Given the description of an element on the screen output the (x, y) to click on. 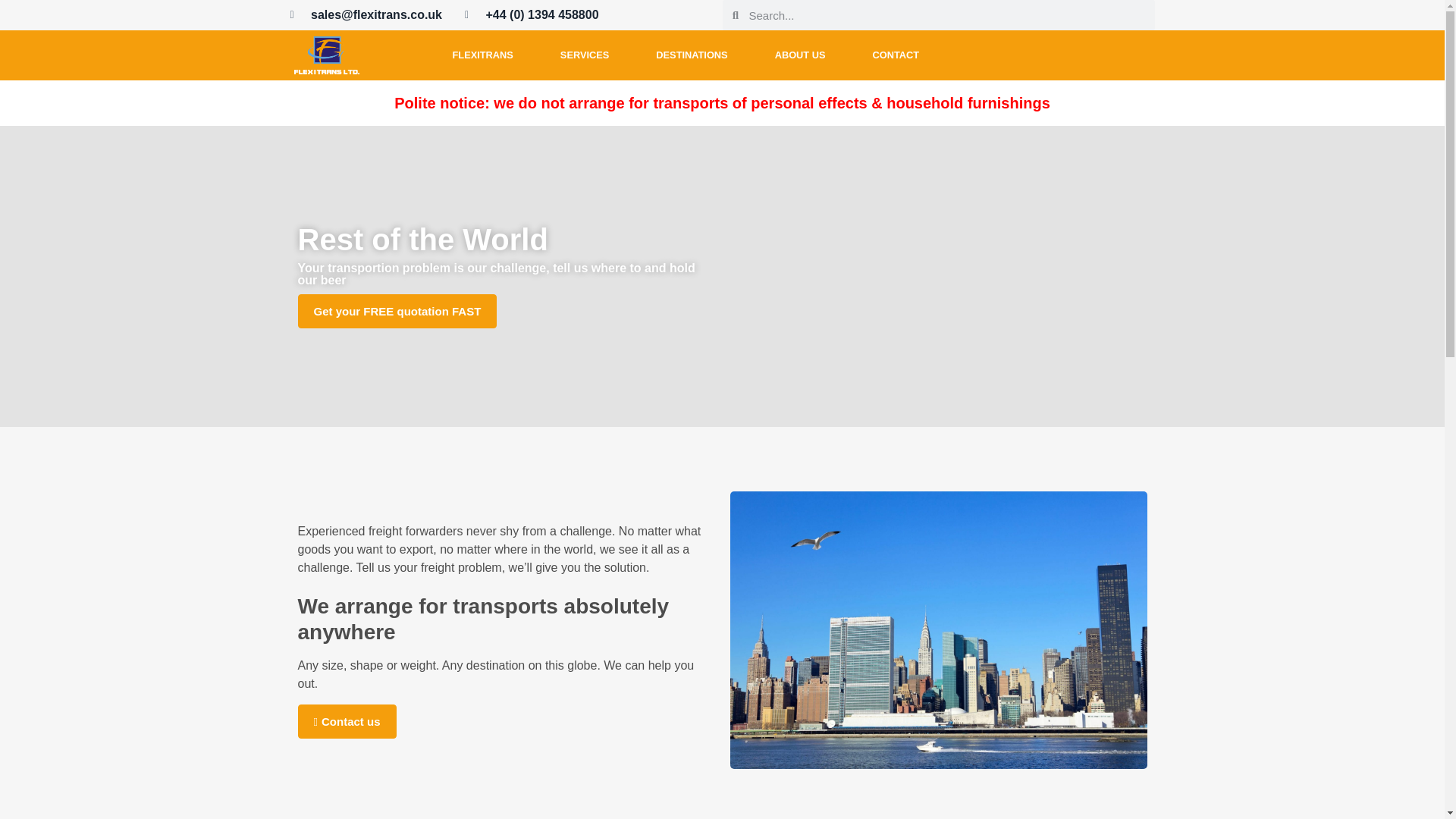
ABOUT US (799, 55)
SERVICES (584, 55)
DESTINATIONS (691, 55)
CONTACT (895, 55)
FLEXITRANS (483, 55)
